Given the description of an element on the screen output the (x, y) to click on. 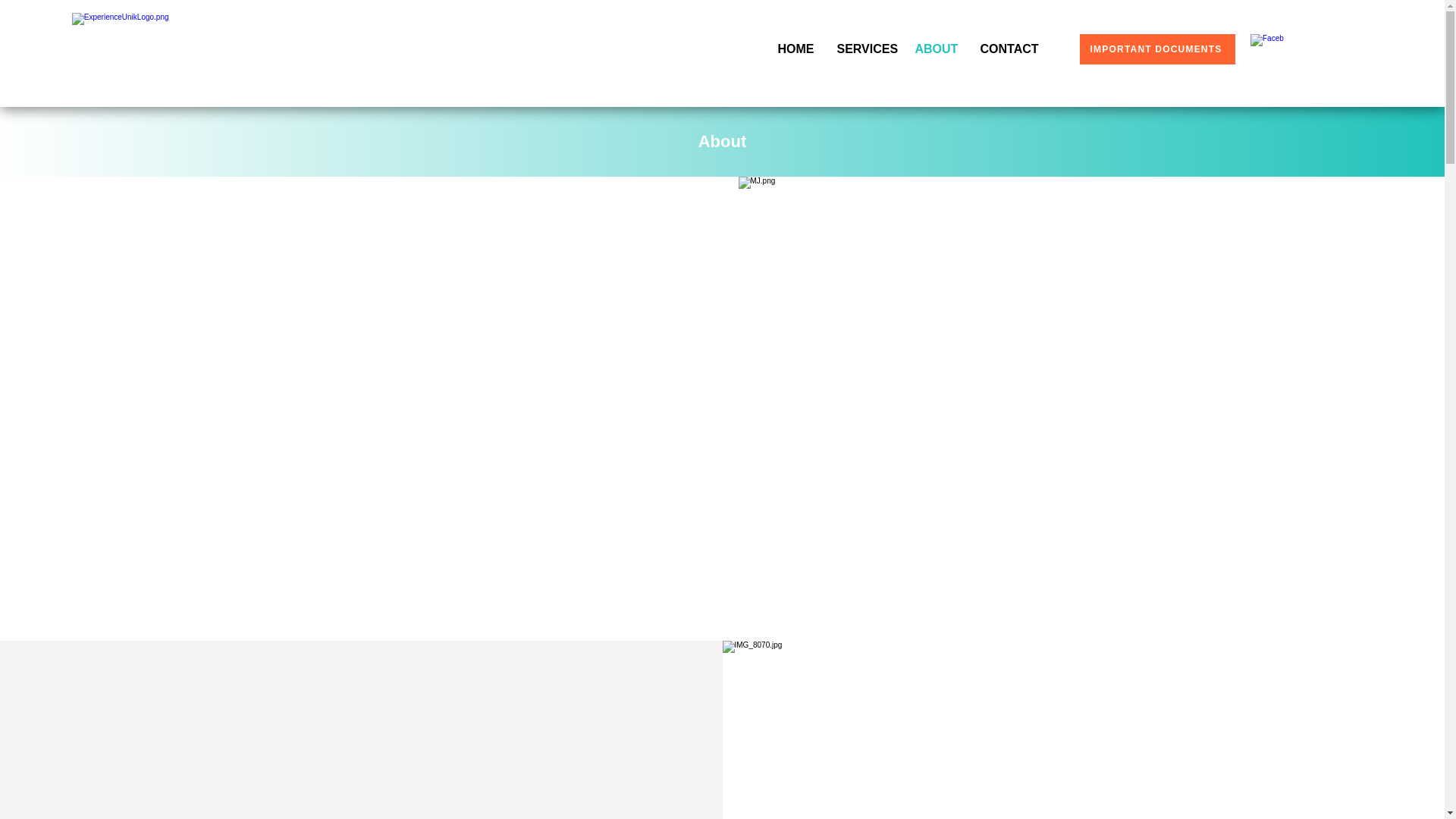
CONTACT (1009, 48)
IMPORTANT DOCUMENTS (1157, 49)
SERVICES (863, 48)
HOME (795, 48)
ABOUT (936, 48)
